Given the description of an element on the screen output the (x, y) to click on. 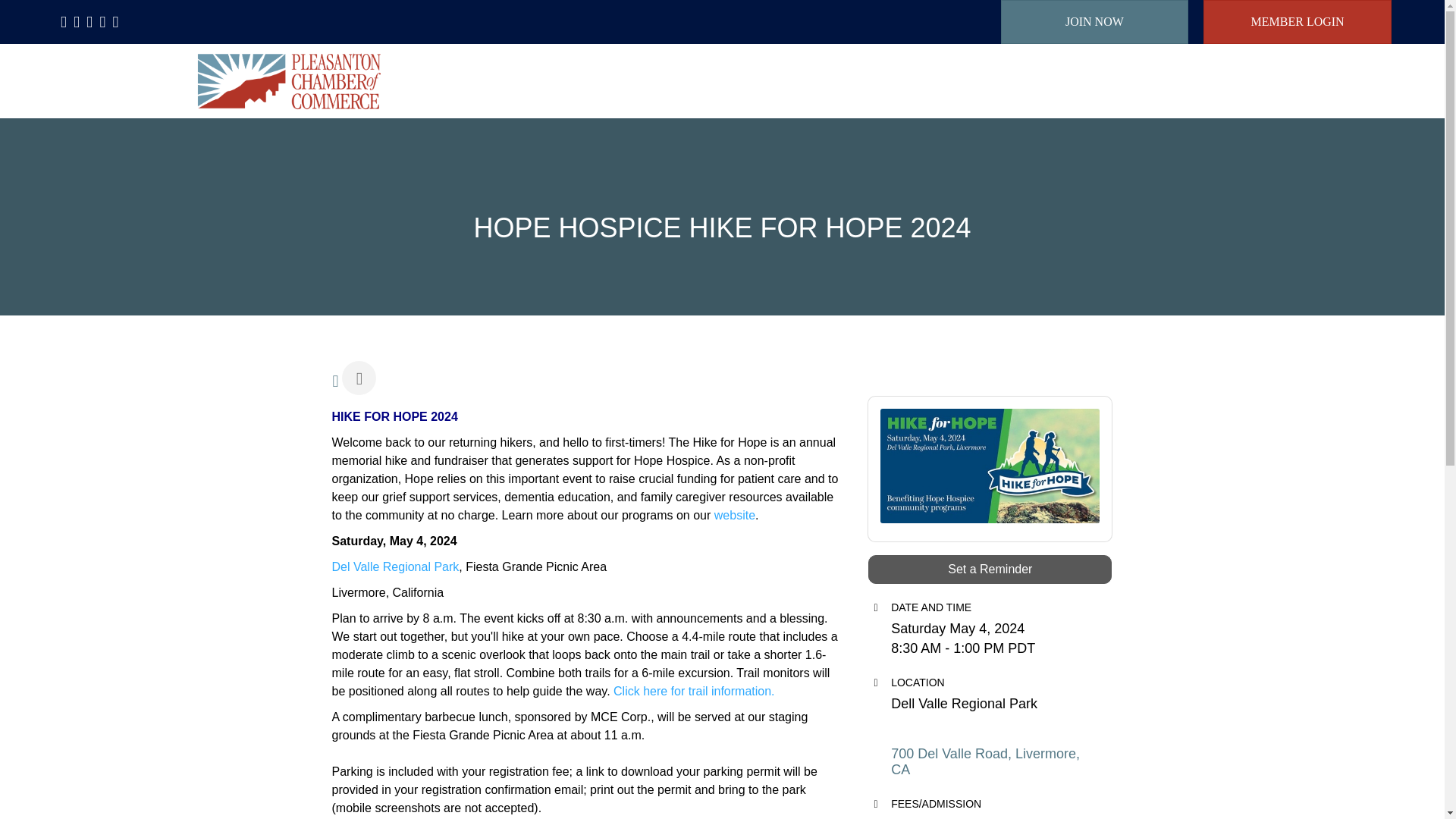
Pleasanton Chamber horizontal logo (288, 80)
MEMBER LOGIN (1297, 22)
JOIN NOW (1095, 22)
